Given the description of an element on the screen output the (x, y) to click on. 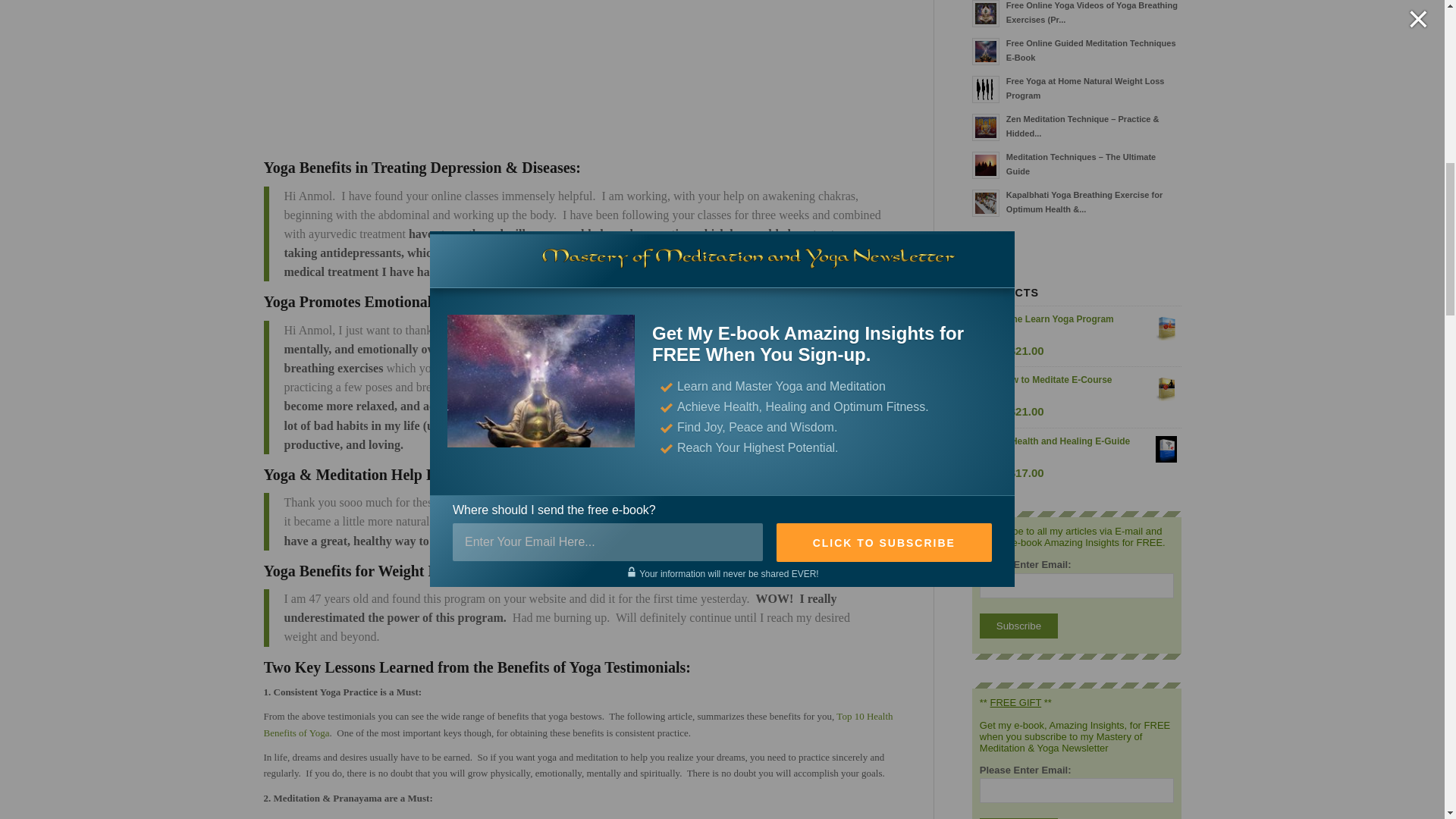
Subscribe (1018, 625)
